Given the description of an element on the screen output the (x, y) to click on. 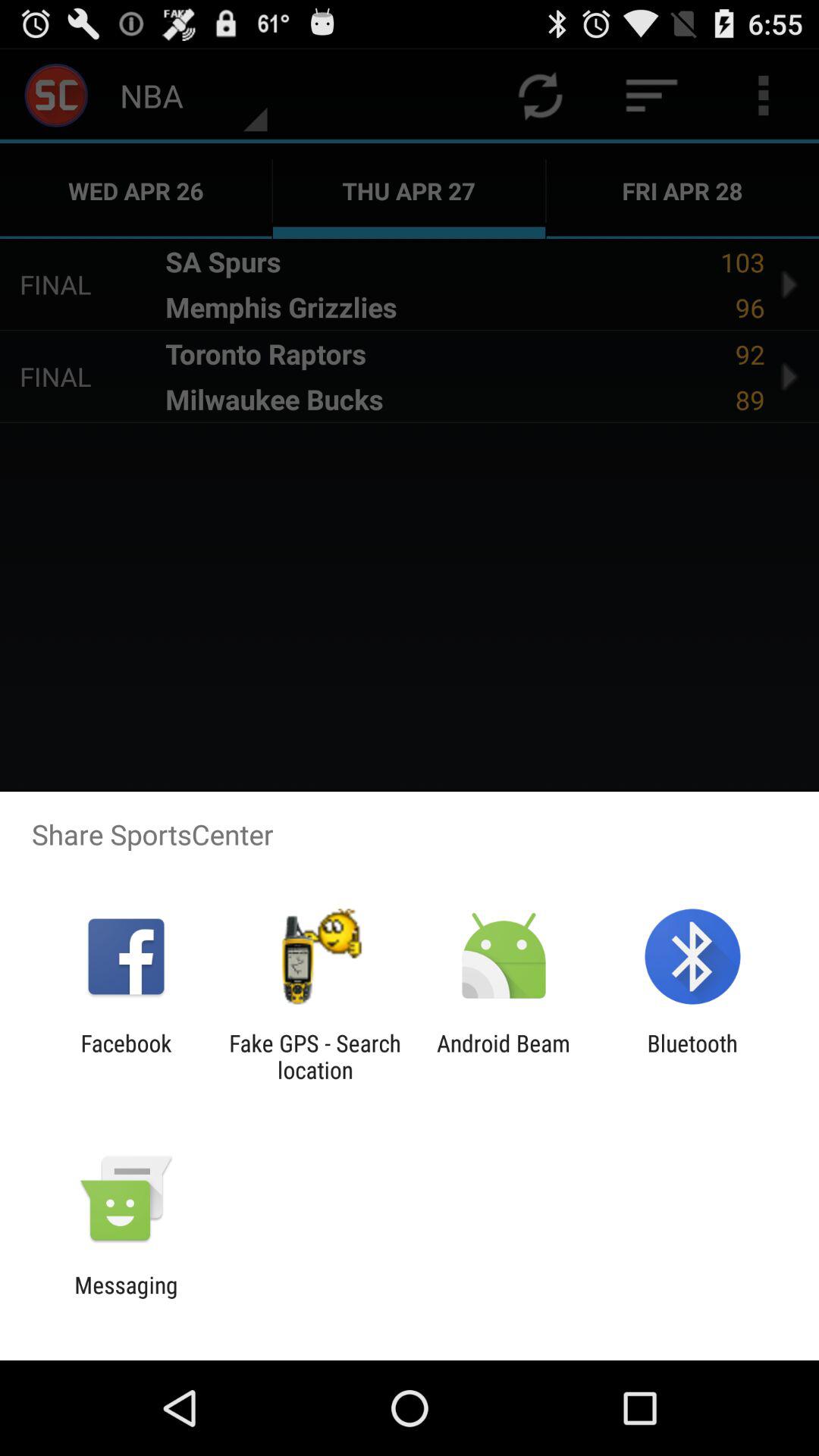
turn on app to the left of the bluetooth (503, 1056)
